Given the description of an element on the screen output the (x, y) to click on. 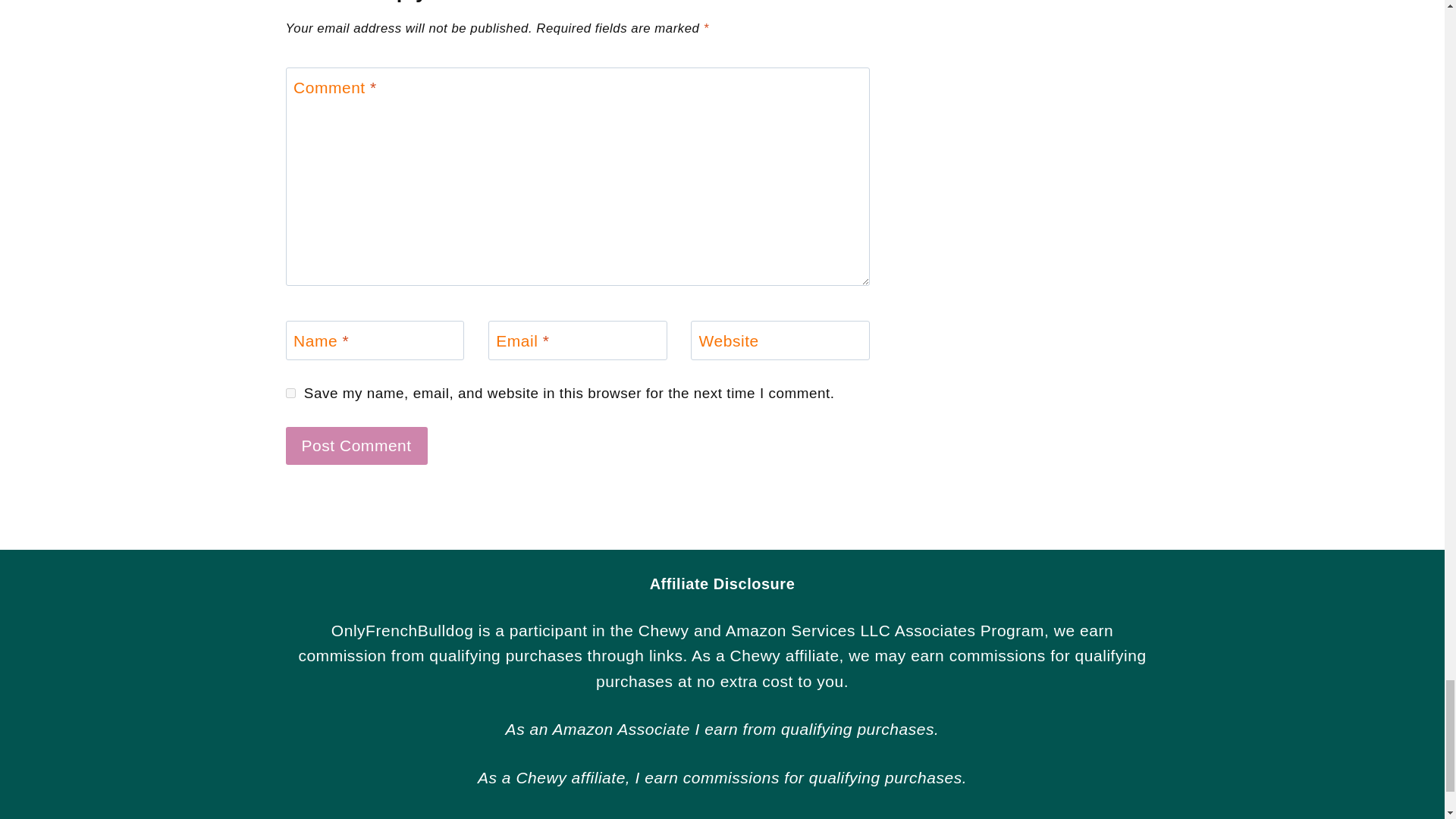
Post Comment (355, 445)
yes (290, 393)
